Given the description of an element on the screen output the (x, y) to click on. 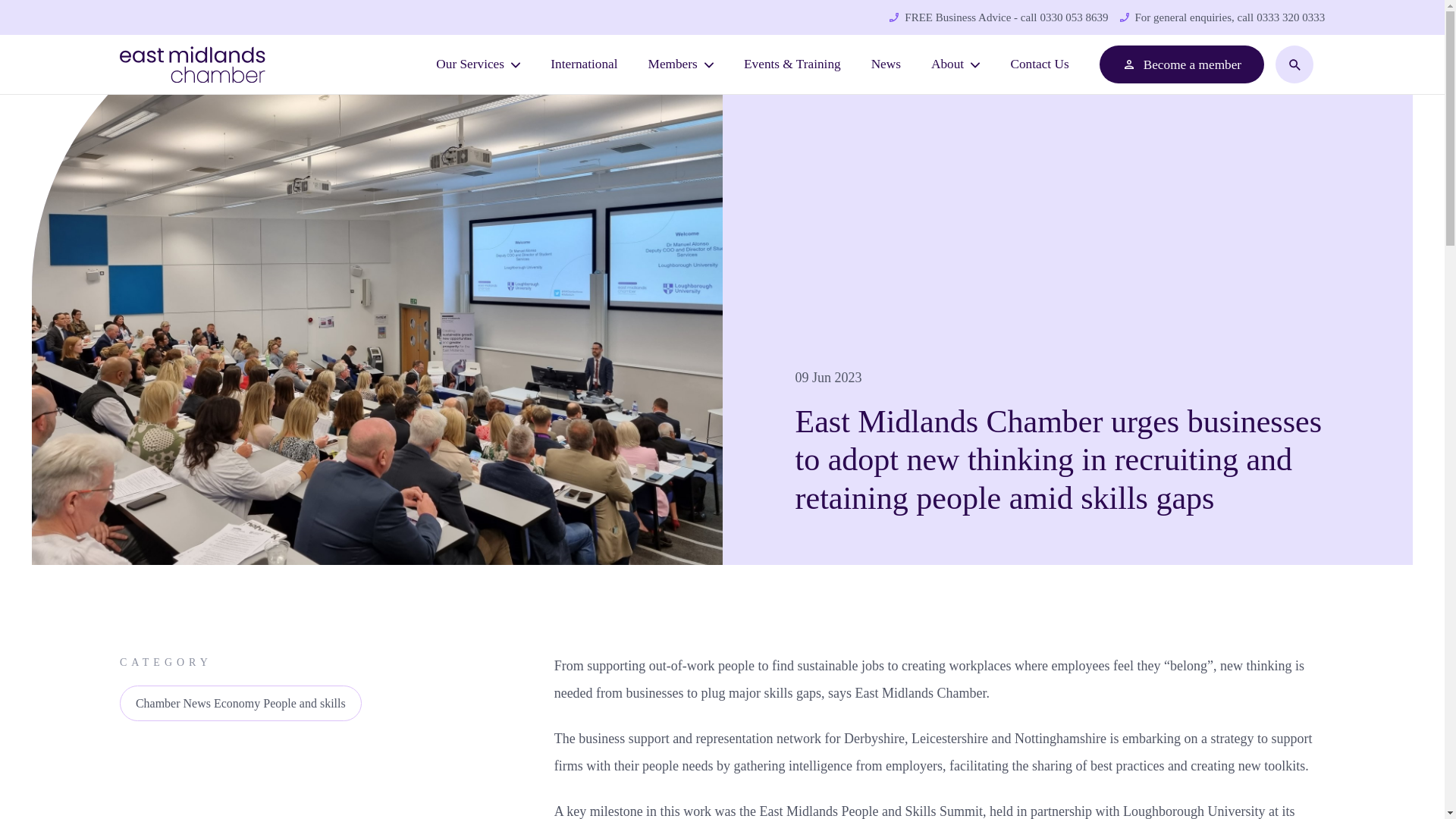
0330 053 8639 (1072, 16)
Become a member (1181, 64)
Contact Us (1039, 64)
About (955, 64)
International (583, 64)
0333 320 0333 (1288, 16)
Members (680, 64)
Our Services (477, 64)
News (885, 64)
